Given the description of an element on the screen output the (x, y) to click on. 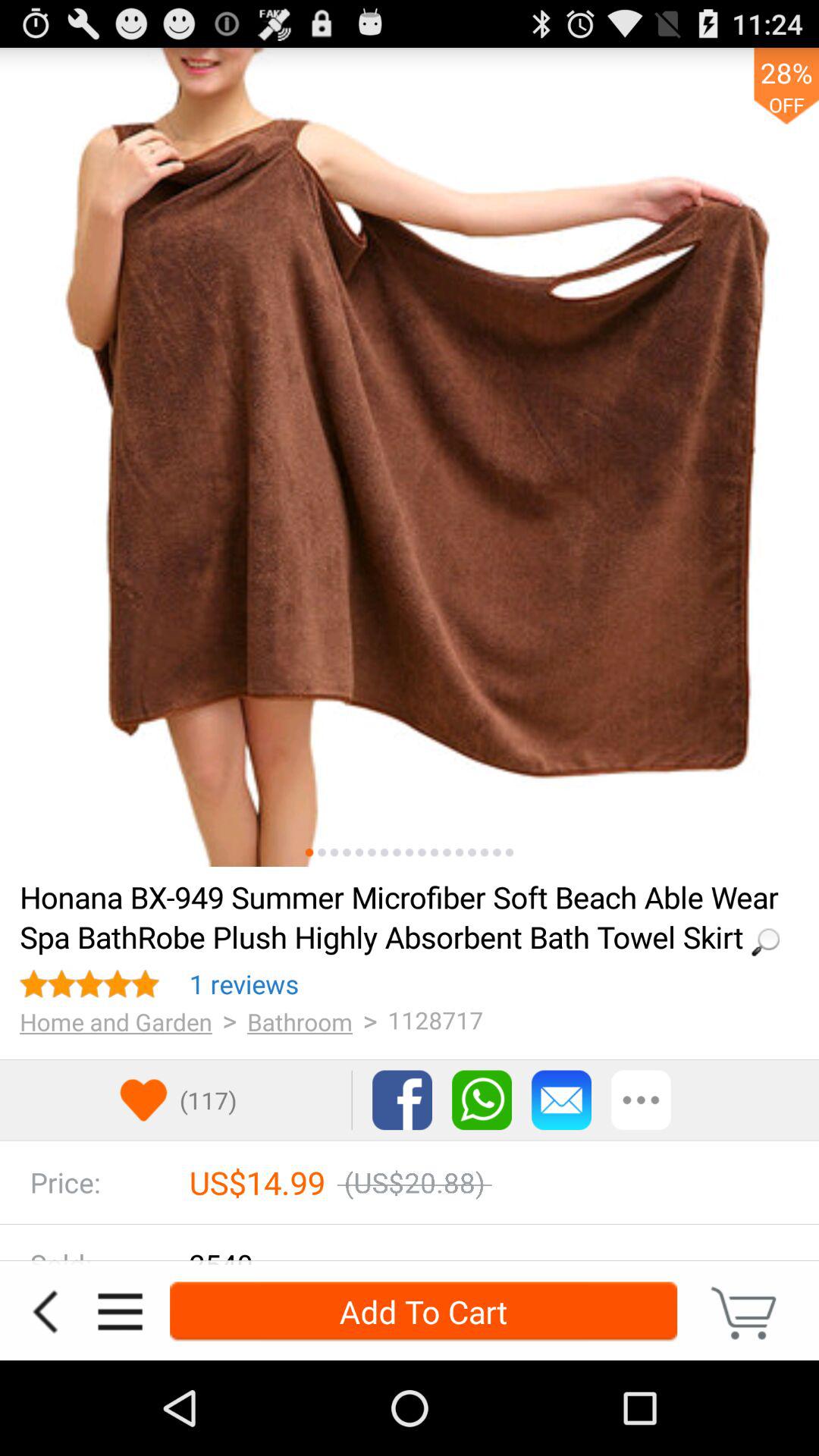
view picture (334, 852)
